Given the description of an element on the screen output the (x, y) to click on. 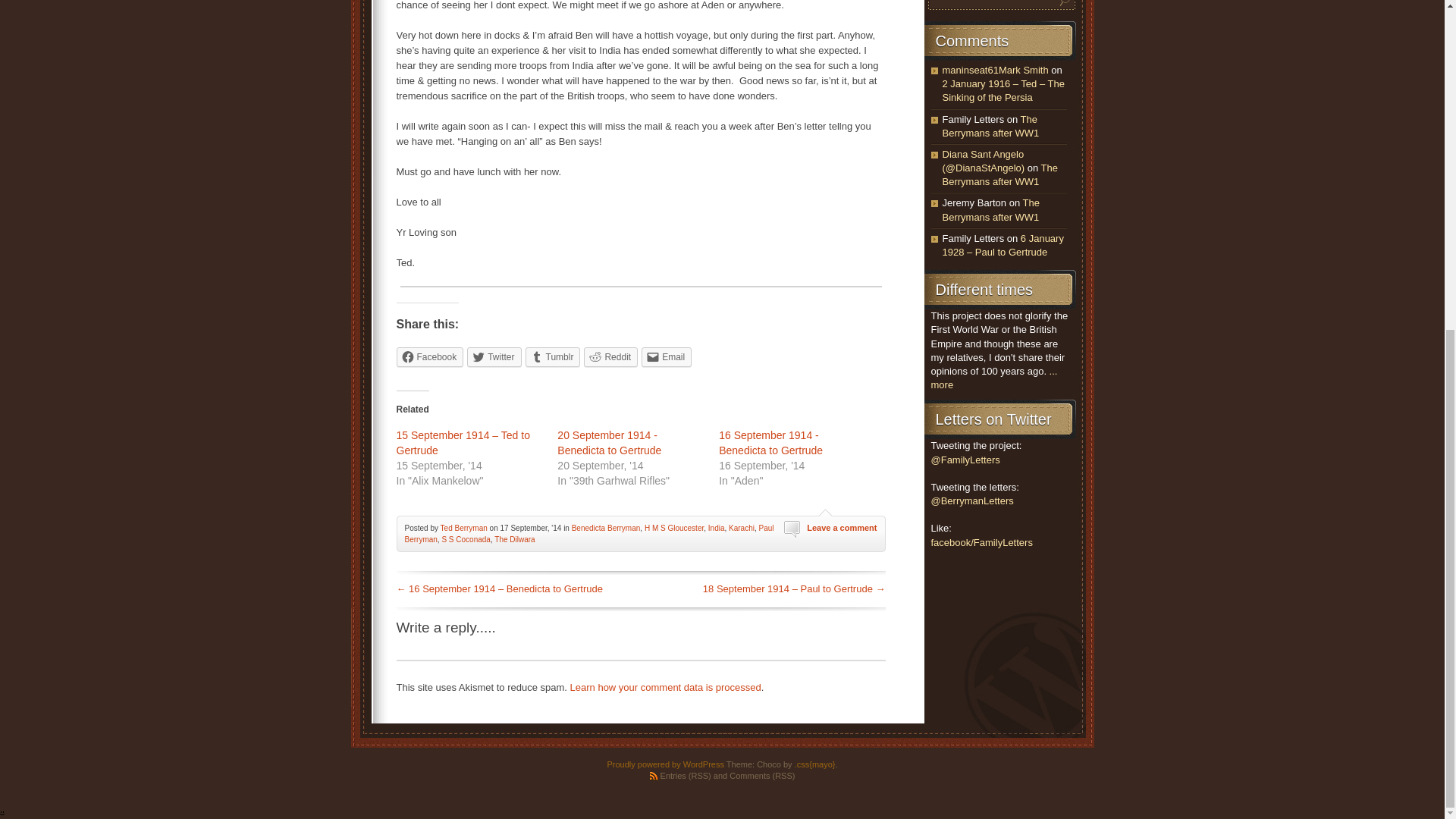
Click to email this to a friend (666, 356)
Click to share on Facebook (429, 356)
20 September 1914 - Benedicta to Gertrude (609, 442)
Posts by Ted Berryman (464, 528)
Click to share on Twitter (494, 356)
Search (1064, 4)
Click to share on Tumblr (552, 356)
Click to share on Reddit (610, 356)
16 September 1914 - Benedicta to Gertrude (770, 442)
